Given the description of an element on the screen output the (x, y) to click on. 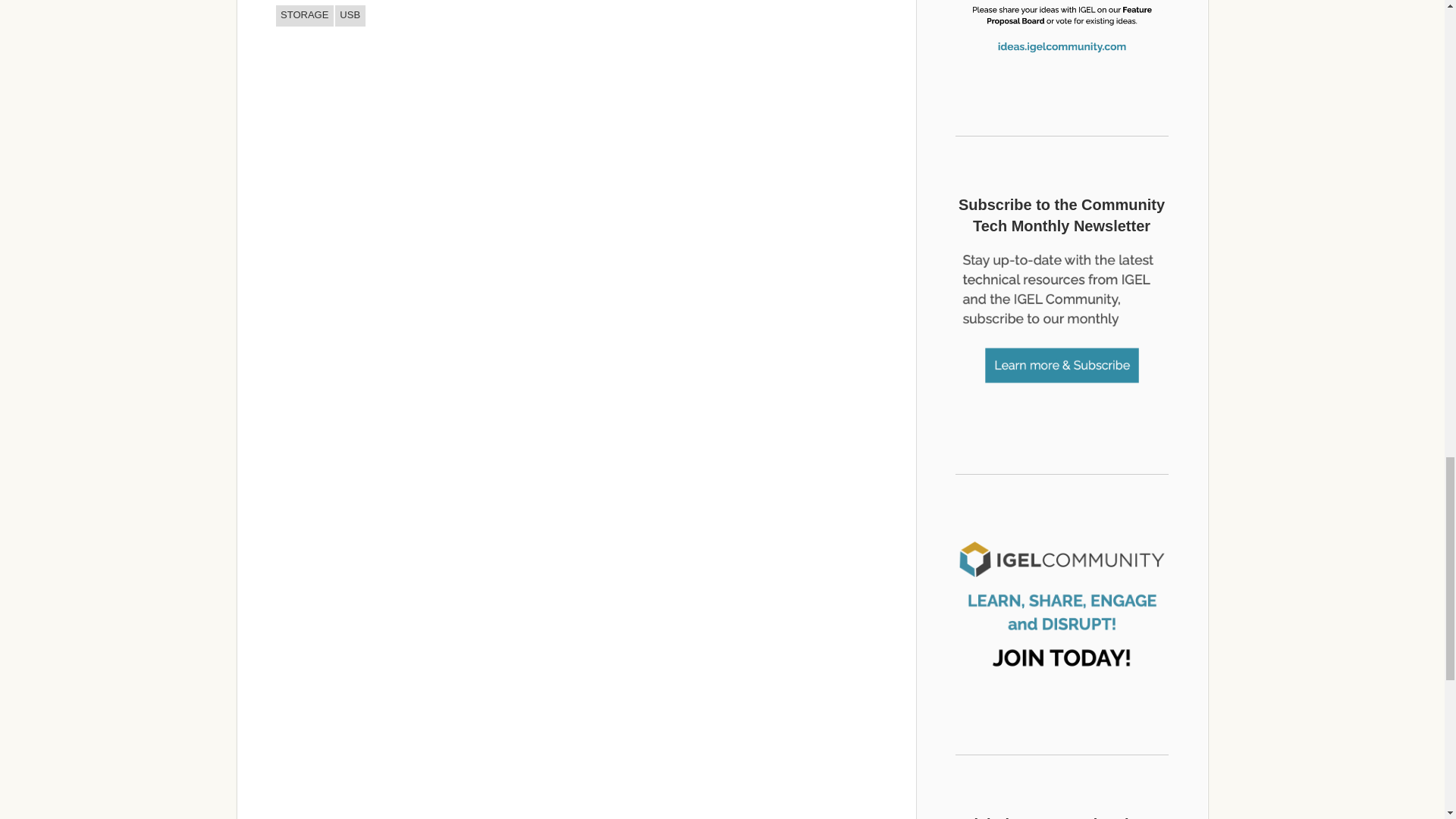
Subscribe to the Community Tech Monthly Newsletter (1062, 321)
